Given the description of an element on the screen output the (x, y) to click on. 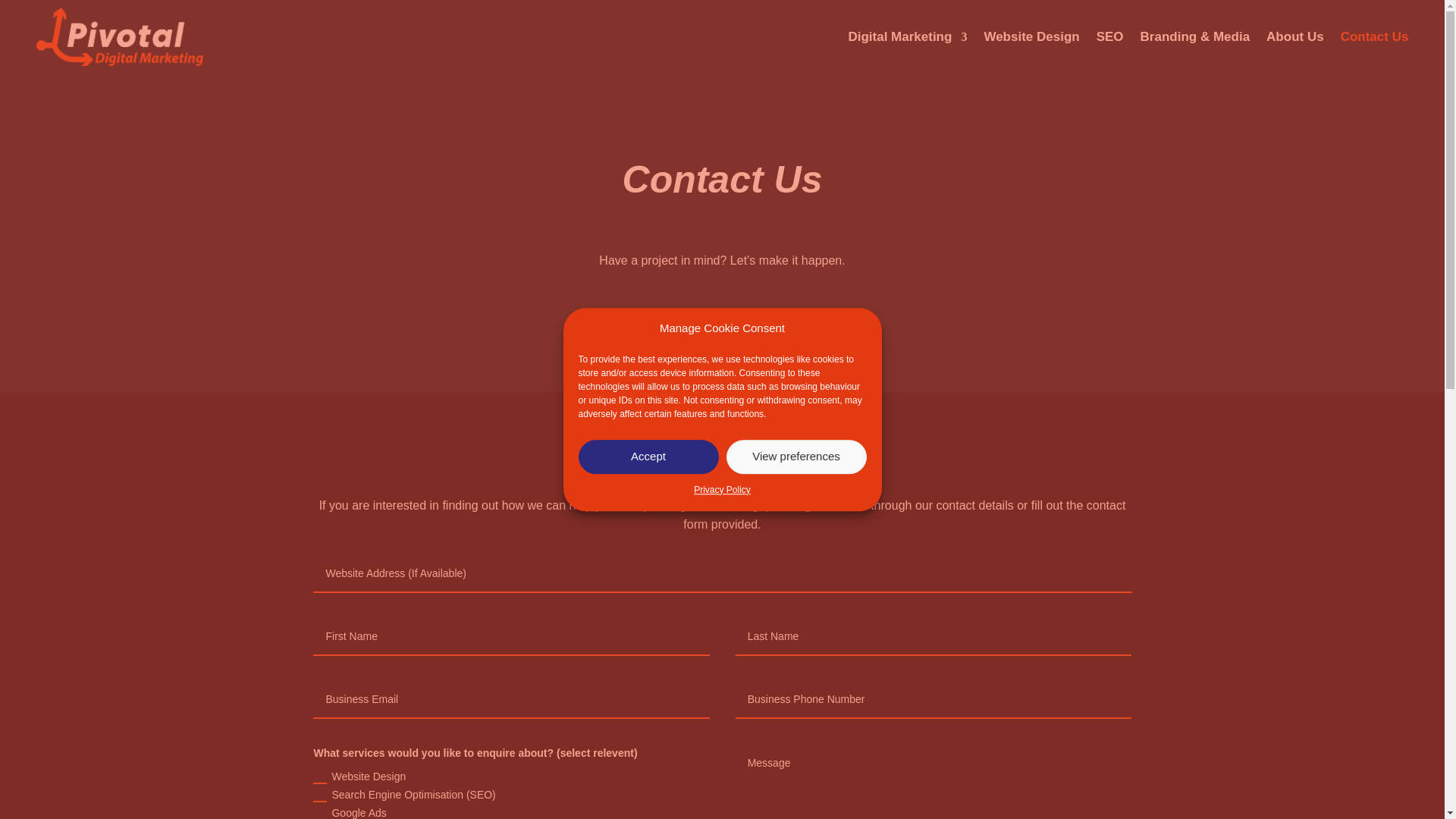
Contact Us (1374, 36)
Privacy Policy (722, 707)
View preferences (796, 778)
Digital Marketing (906, 36)
Minimum length: 8 characters.  (722, 573)
SEO (1110, 36)
Website Design (1031, 36)
About Us (1294, 36)
